Given the description of an element on the screen output the (x, y) to click on. 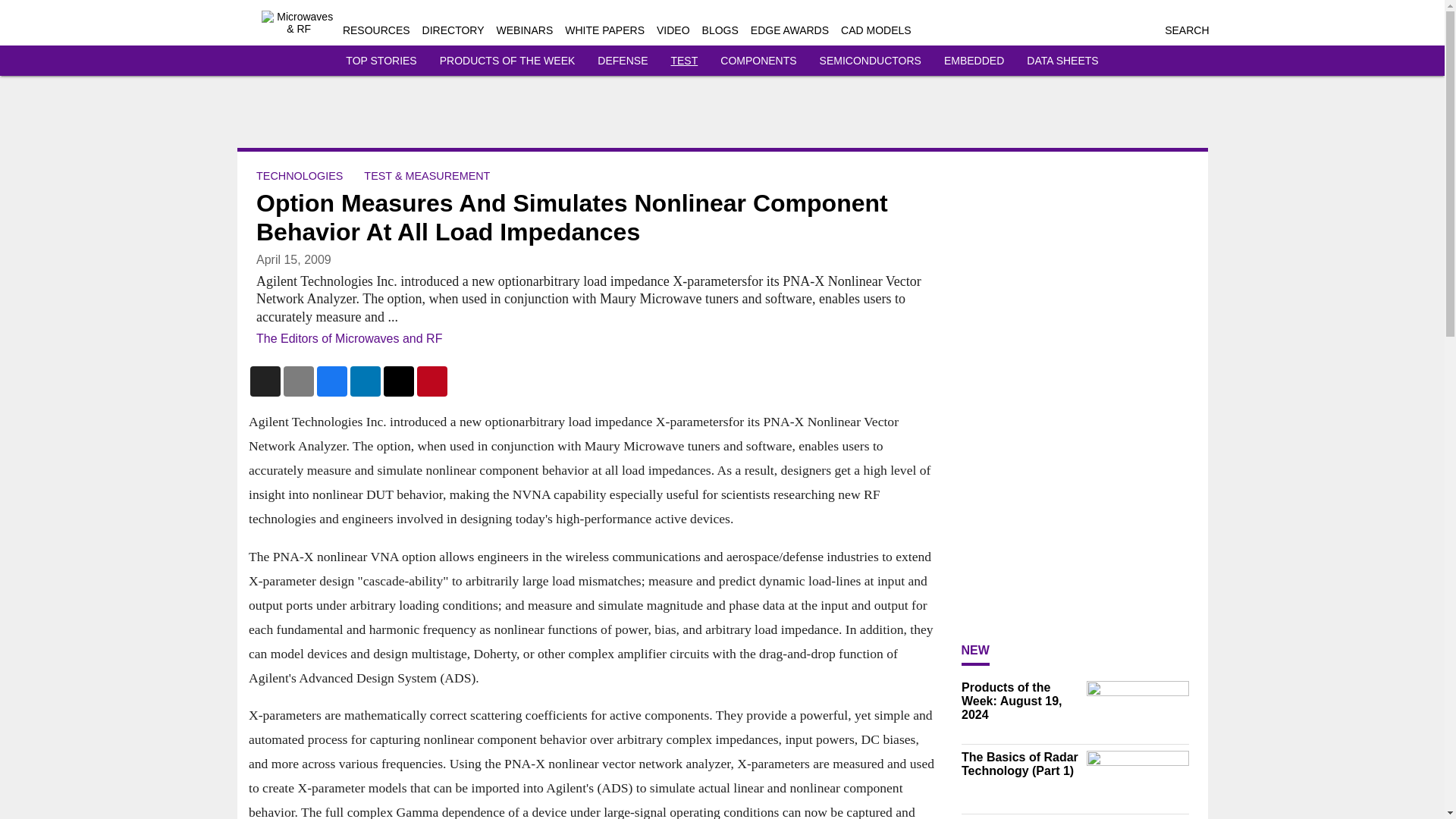
SEARCH (1186, 30)
CAD MODELS (876, 30)
RESOURCES (376, 30)
TEST (683, 60)
DATA SHEETS (1061, 60)
EMBEDDED (973, 60)
VIDEO (673, 30)
DIRECTORY (453, 30)
The Editors of Microwaves and RF (349, 338)
BLOGS (719, 30)
